Given the description of an element on the screen output the (x, y) to click on. 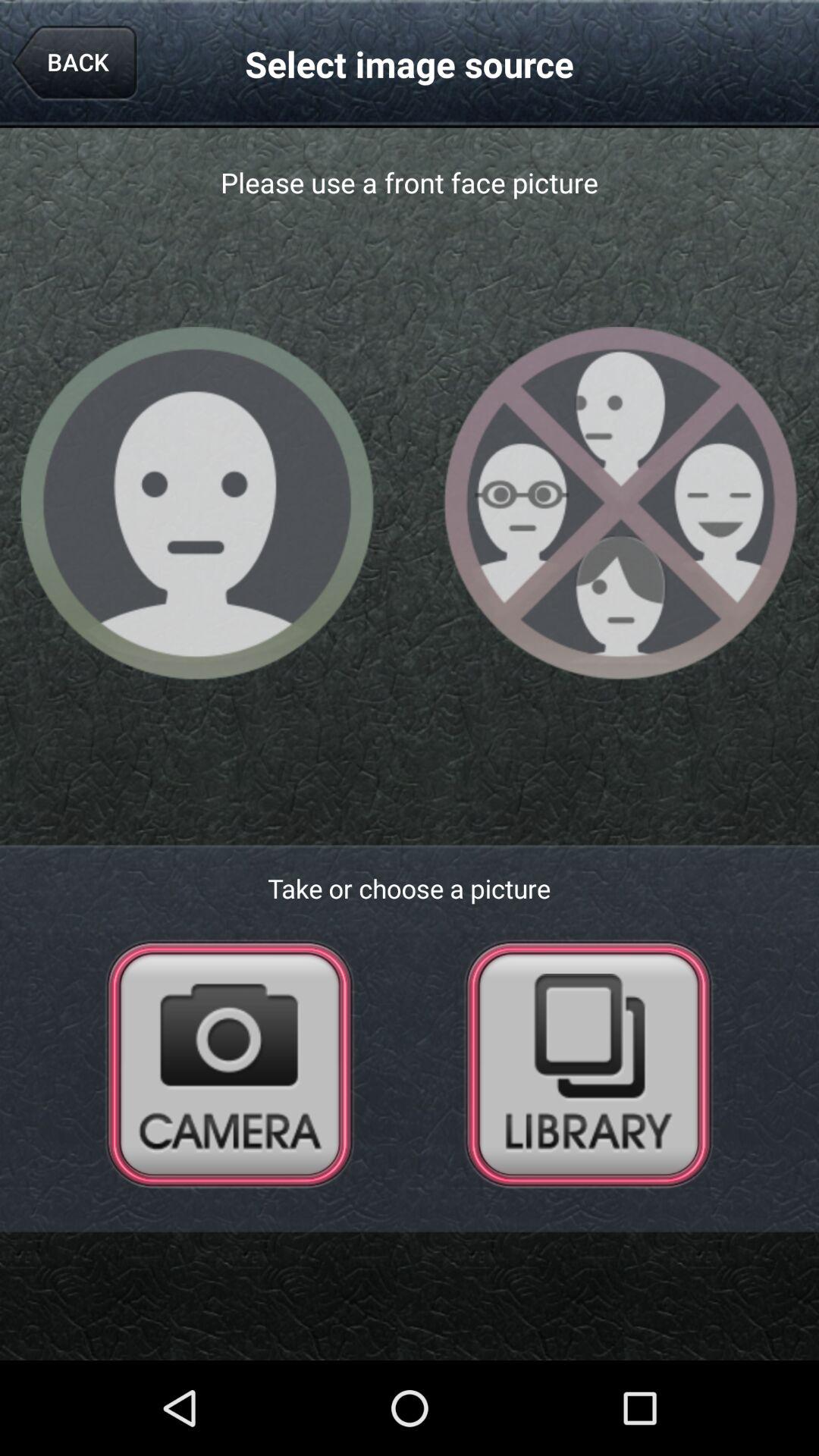
select back (74, 63)
